Given the description of an element on the screen output the (x, y) to click on. 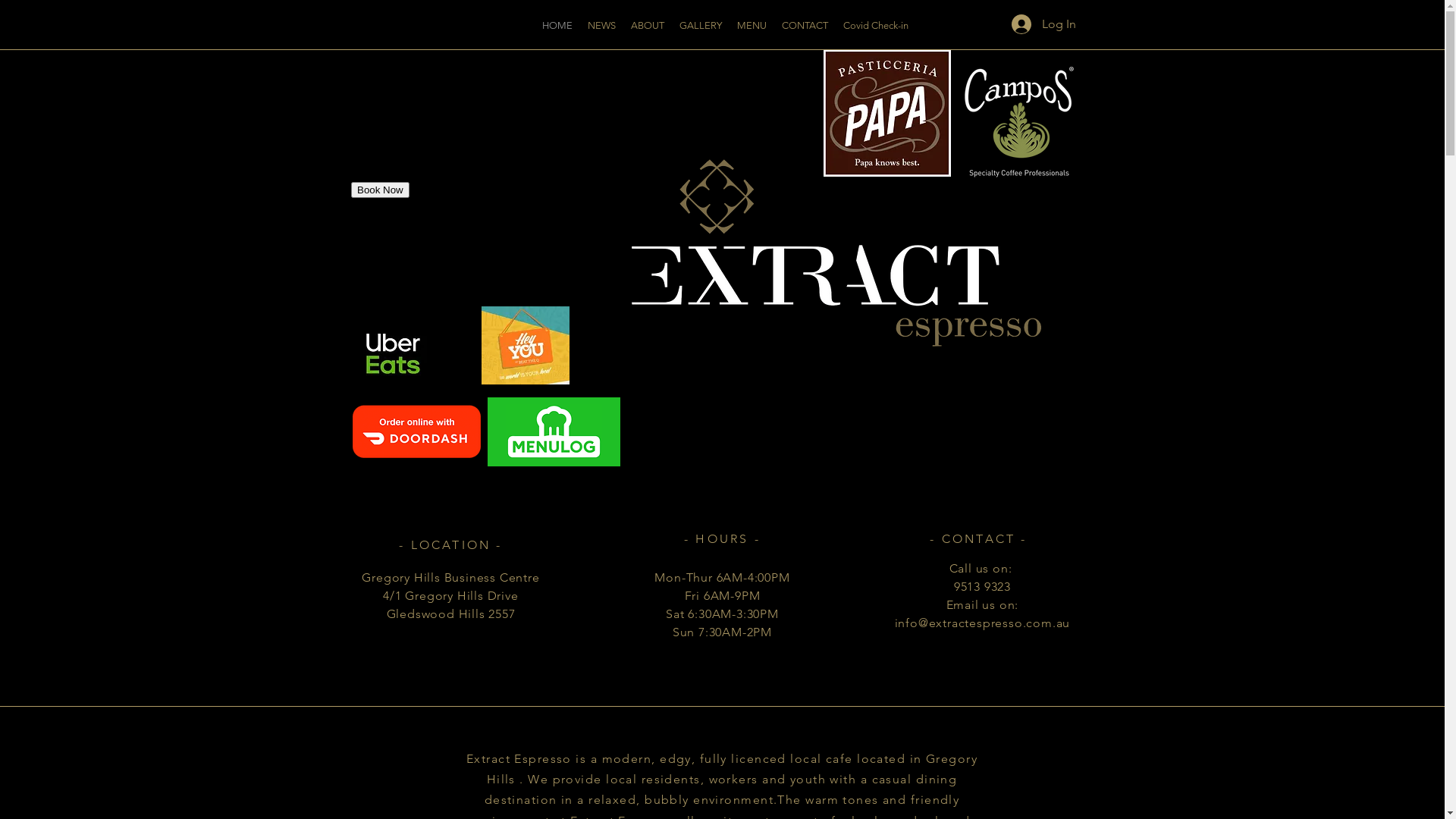
NEWS Element type: text (601, 24)
info@extractespresso.com.au Element type: text (982, 622)
HOME Element type: text (557, 24)
Restaurant Social Bar Element type: hover (1369, 27)
ABOUT Element type: text (647, 24)
CONTACT Element type: text (804, 24)
Covid Check-in Element type: text (875, 24)
GALLERY Element type: text (700, 24)
Wix Reservations Element type: hover (459, 177)
Log In Element type: text (1043, 23)
MENU Element type: text (751, 24)
